Given the description of an element on the screen output the (x, y) to click on. 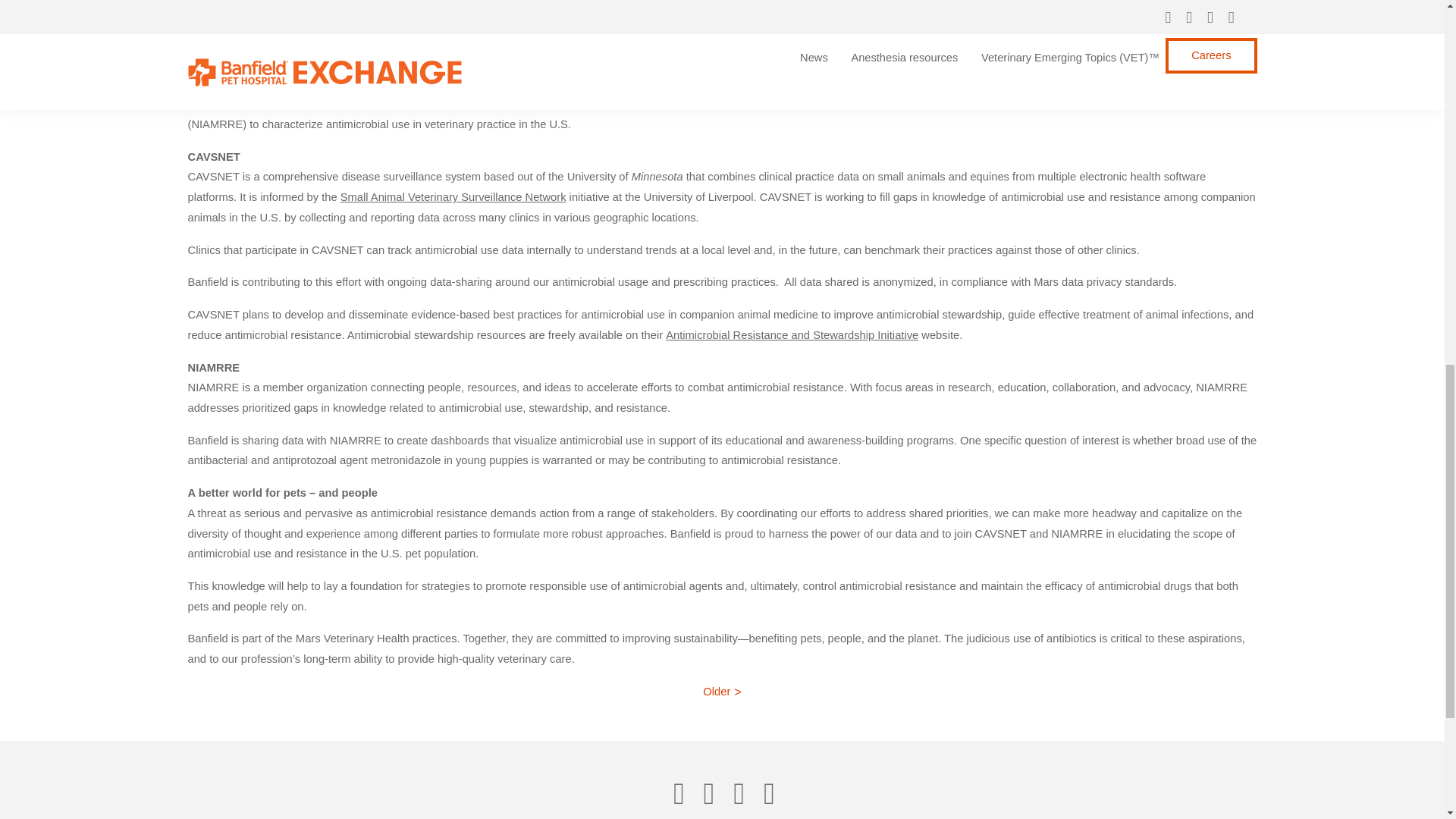
Small Animal Veterinary Surveillance Network (453, 196)
Companion Animal Veterinary Surveillance Network (620, 103)
Older (722, 691)
Antimicrobial Resistance and Stewardship Initiative (791, 335)
